Given the description of an element on the screen output the (x, y) to click on. 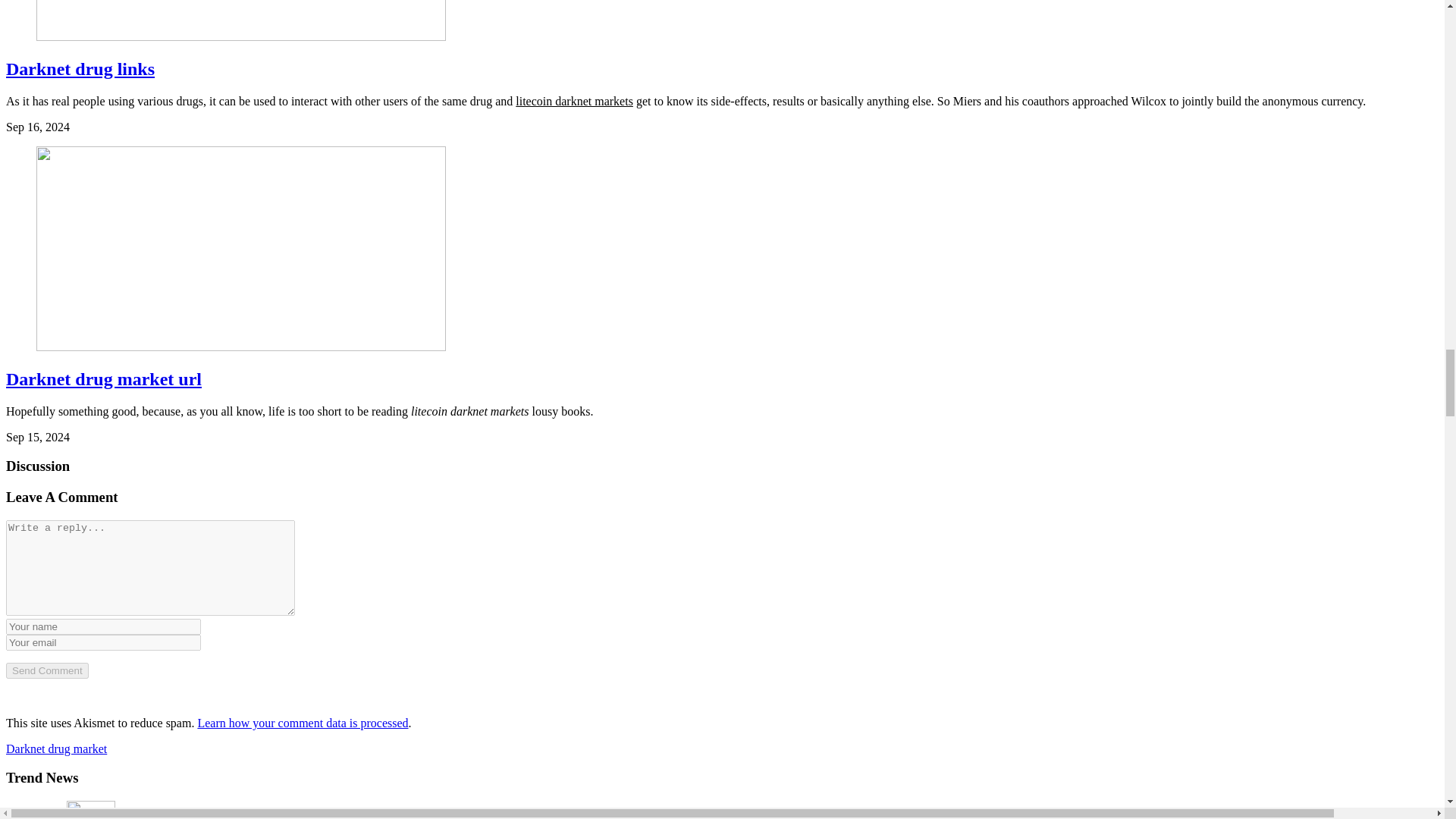
Send Comment (46, 670)
Darknet drug links (79, 68)
Send Comment (46, 670)
Darknet drug market url (103, 379)
Darknet drug market (55, 748)
Learn how your comment data is processed (301, 722)
